Given the description of an element on the screen output the (x, y) to click on. 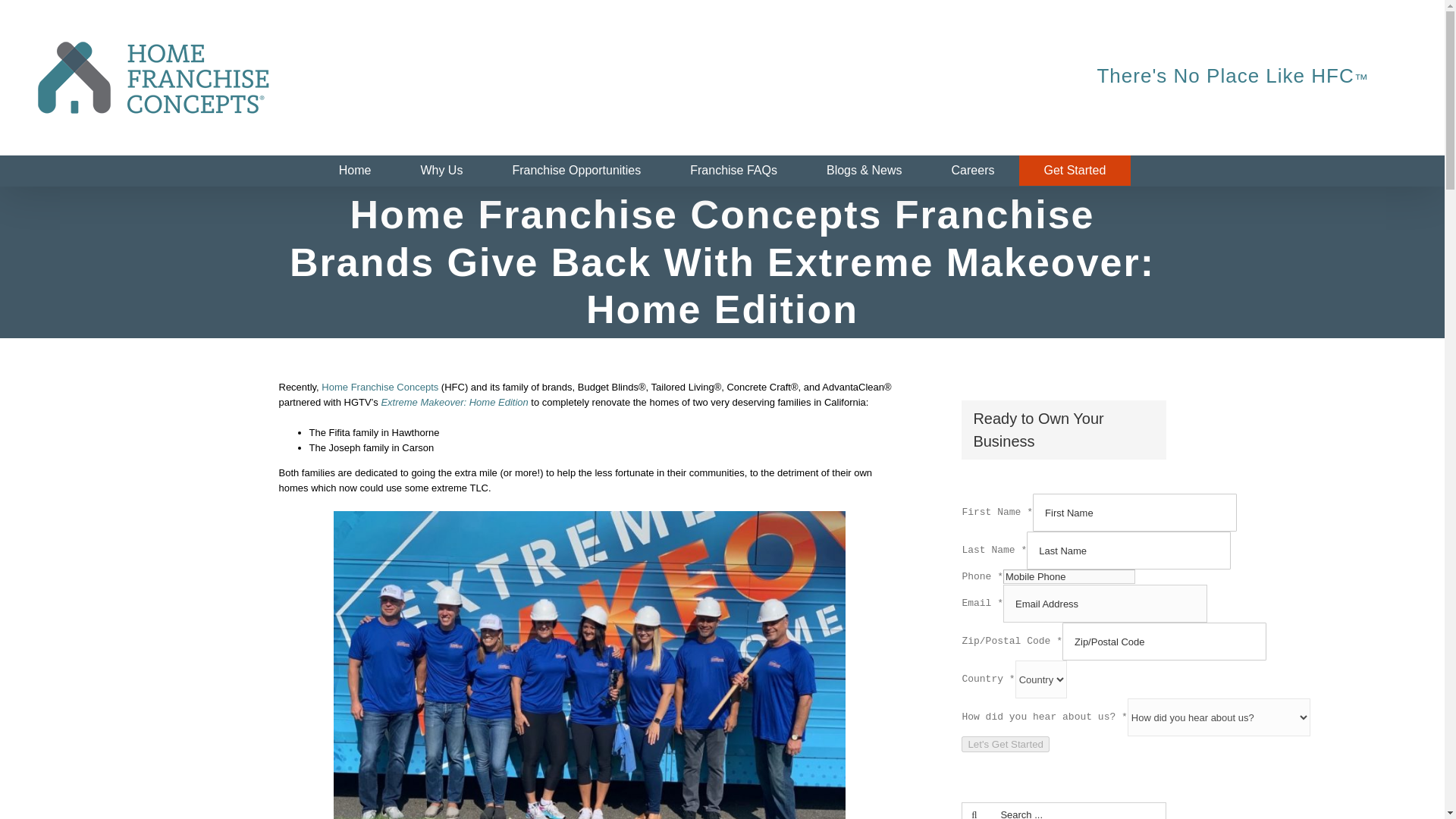
Franchise FAQs (733, 170)
Why Us (441, 170)
Careers (972, 170)
Home (355, 170)
Get Started (1075, 170)
Franchise Opportunities (576, 170)
